Given the description of an element on the screen output the (x, y) to click on. 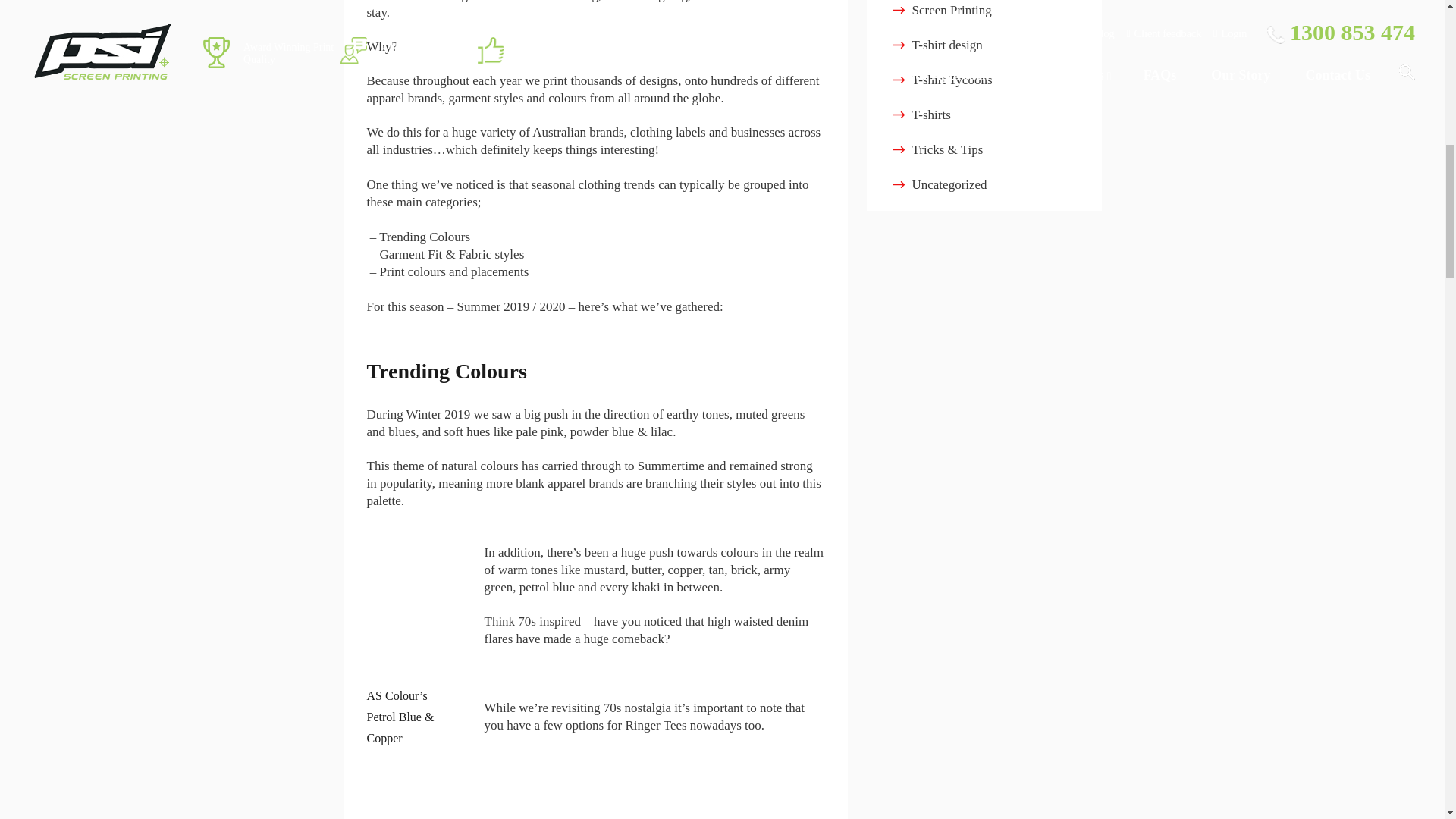
T-shirts (930, 114)
Screen Printing (951, 10)
T-shirt design (946, 44)
T-shirt Tycoons (951, 79)
